Given the description of an element on the screen output the (x, y) to click on. 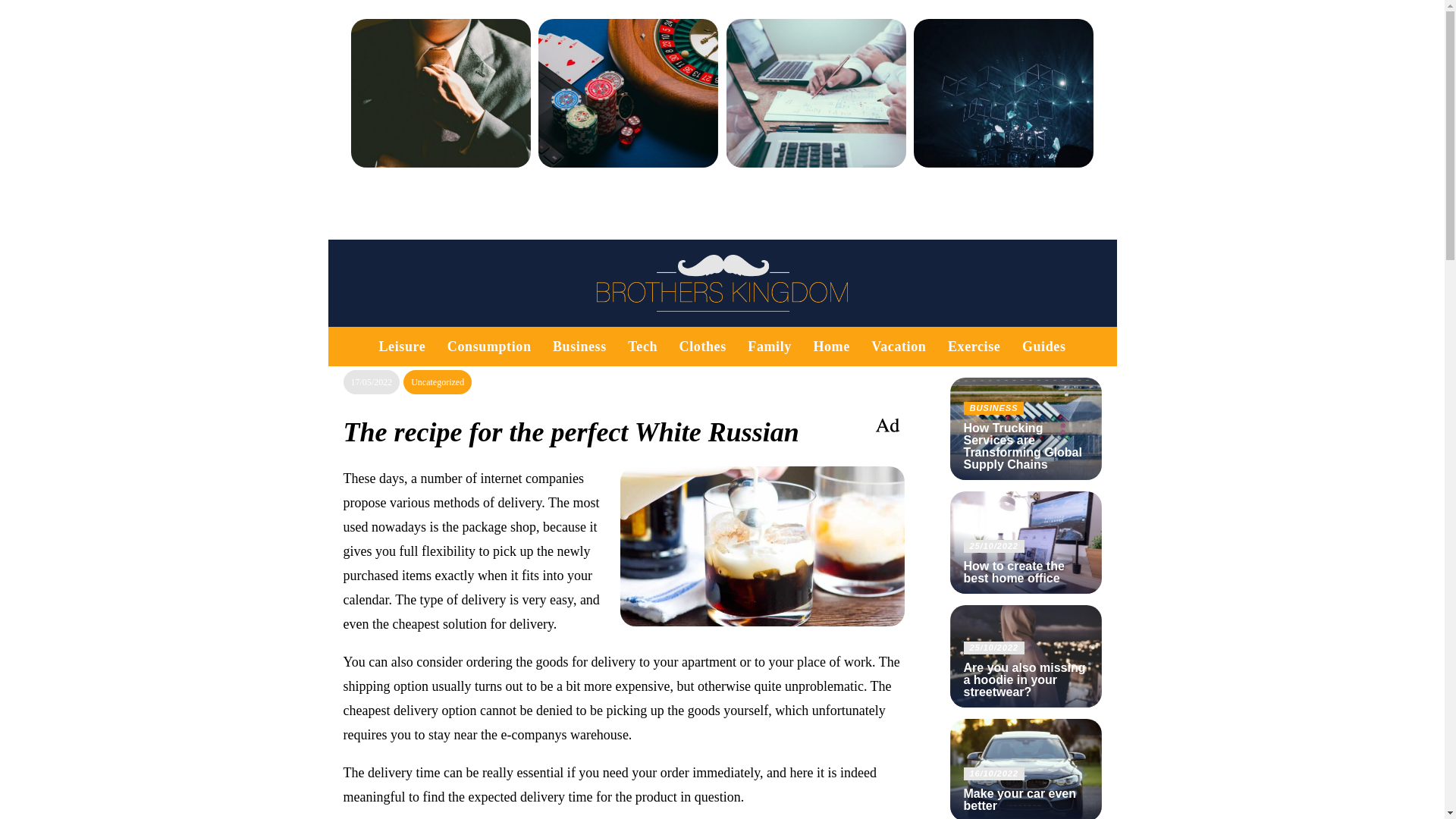
Family (770, 346)
Leisure (401, 346)
Consumption (488, 346)
3 good tips for you who play online casino (627, 110)
Tech (642, 346)
Exercise (973, 346)
Never compromise when buying a suit (439, 110)
Clothes (702, 346)
